Given the description of an element on the screen output the (x, y) to click on. 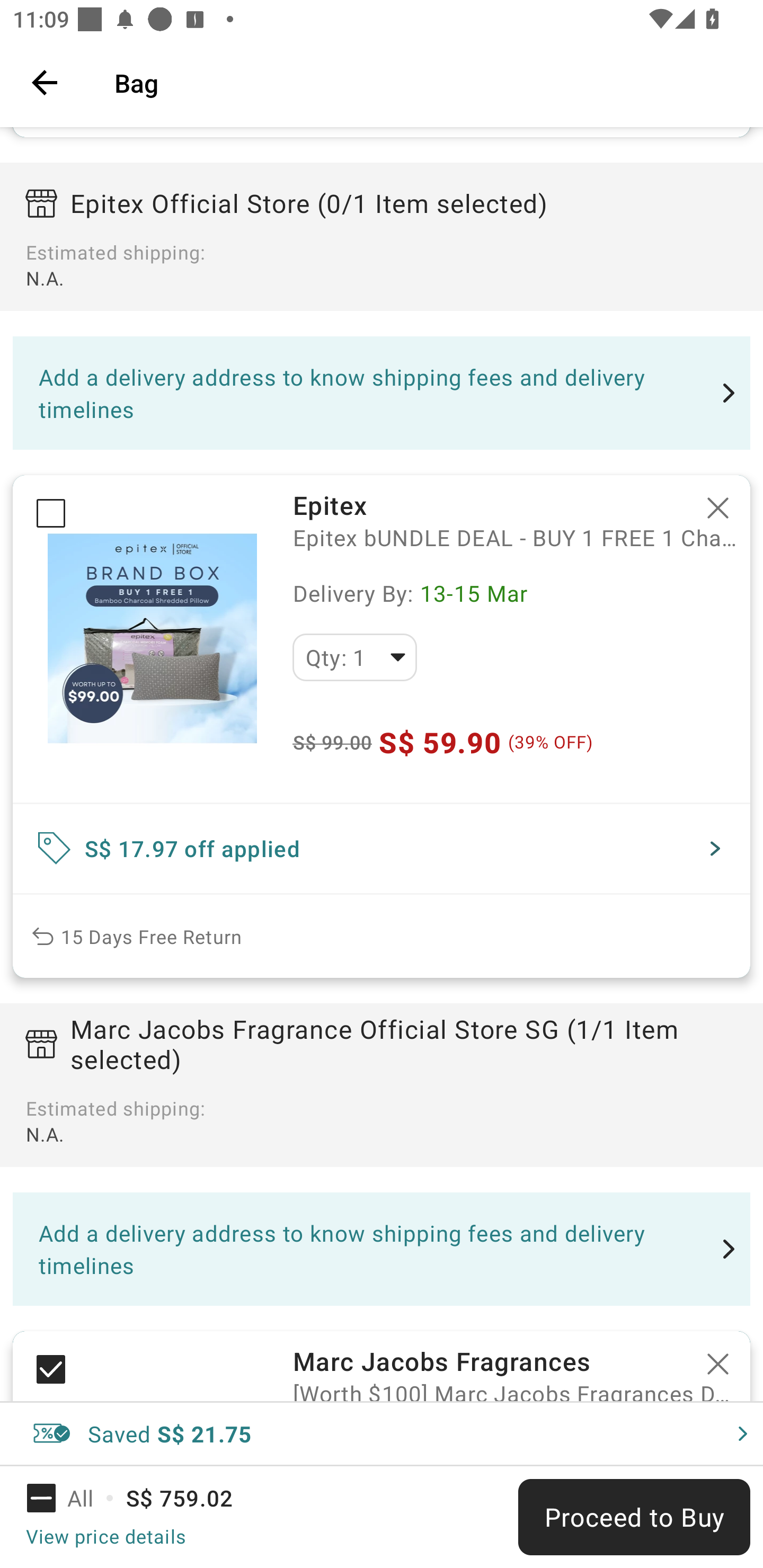
Navigate up (44, 82)
Bag (426, 82)
Qty: 1 (354, 656)
S$ 17.97 off applied (381, 848)
Saved S$ 21.75 (381, 1433)
All (72, 1497)
Proceed to Buy (634, 1516)
View price details (105, 1535)
